Given the description of an element on the screen output the (x, y) to click on. 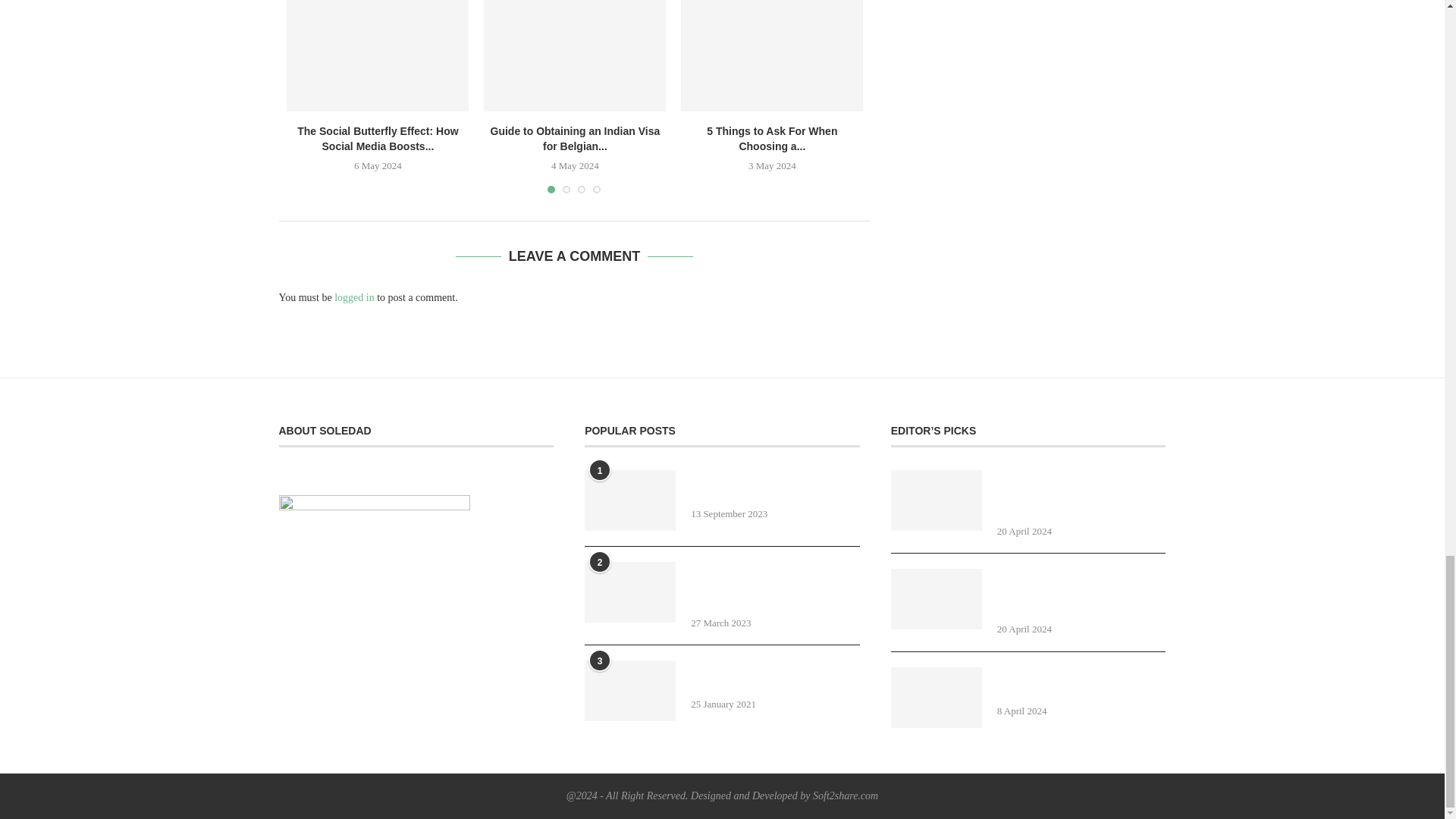
Guide to Obtaining an Indian Visa for Belgian Citizens (574, 55)
